Given the description of an element on the screen output the (x, y) to click on. 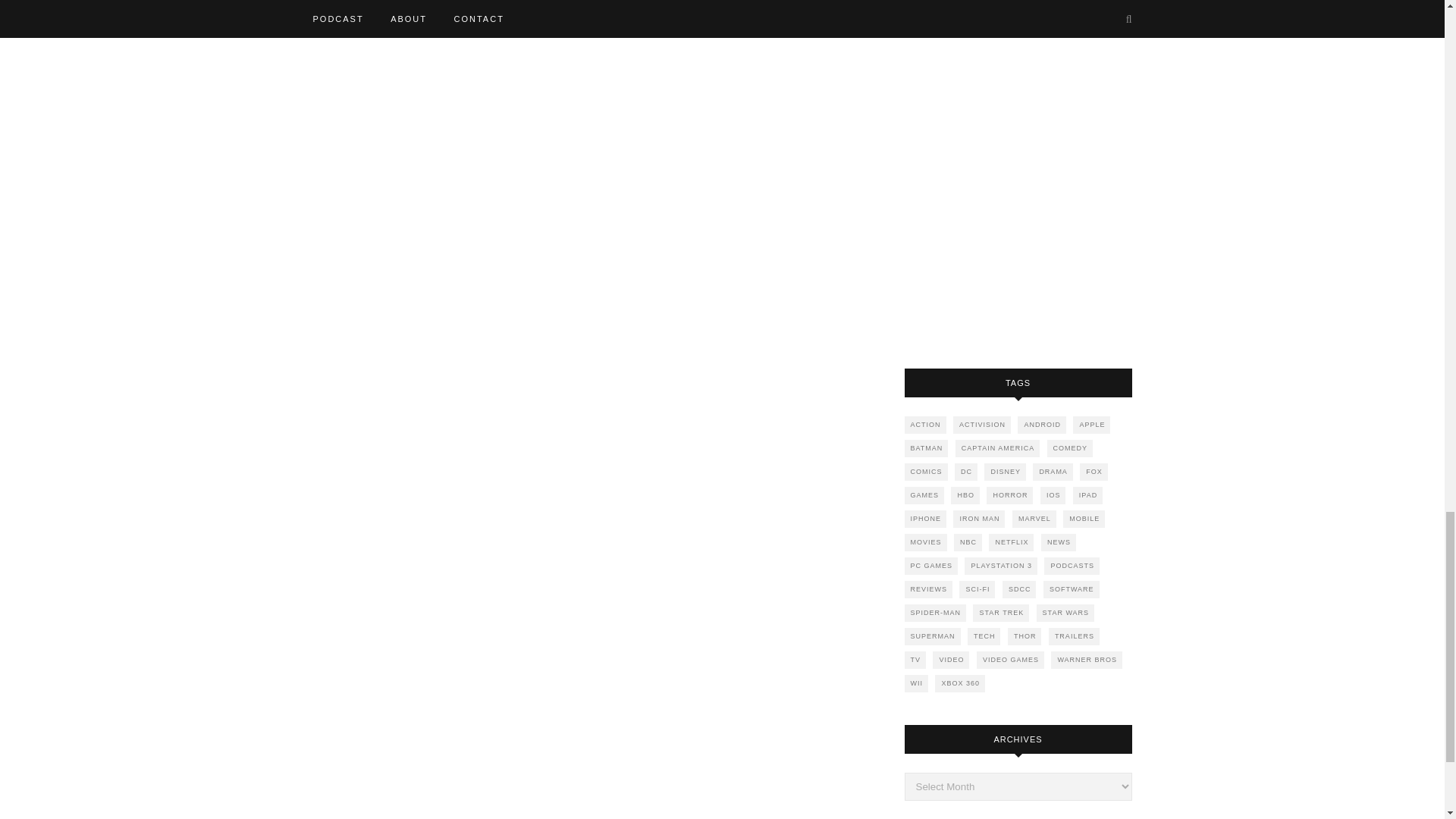
Advertisement (1017, 169)
